Given the description of an element on the screen output the (x, y) to click on. 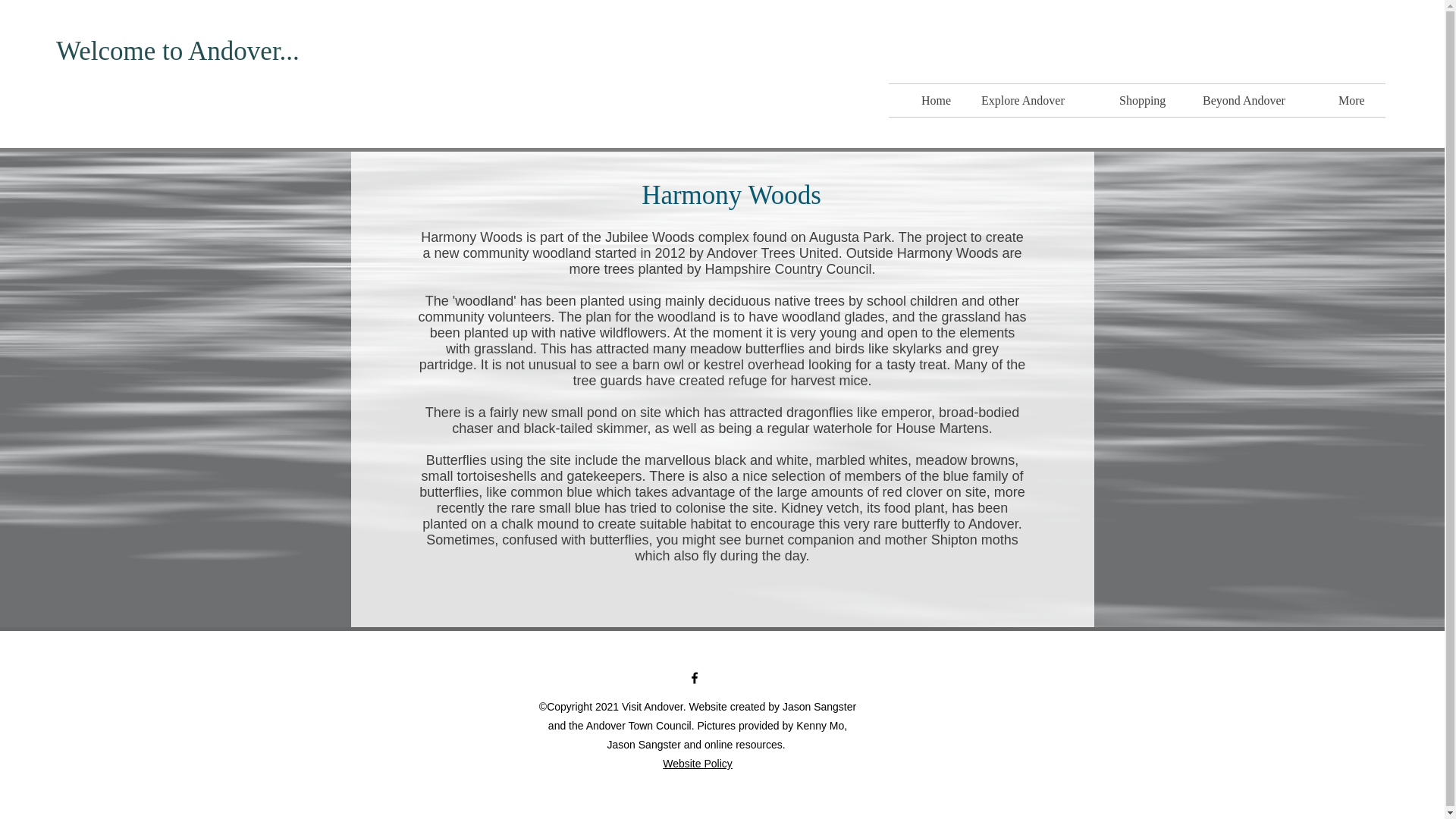
Beyond Andover (1258, 100)
Explore Andover (1038, 100)
Website Policy (697, 763)
Home (939, 100)
Shopping (1149, 100)
